Given the description of an element on the screen output the (x, y) to click on. 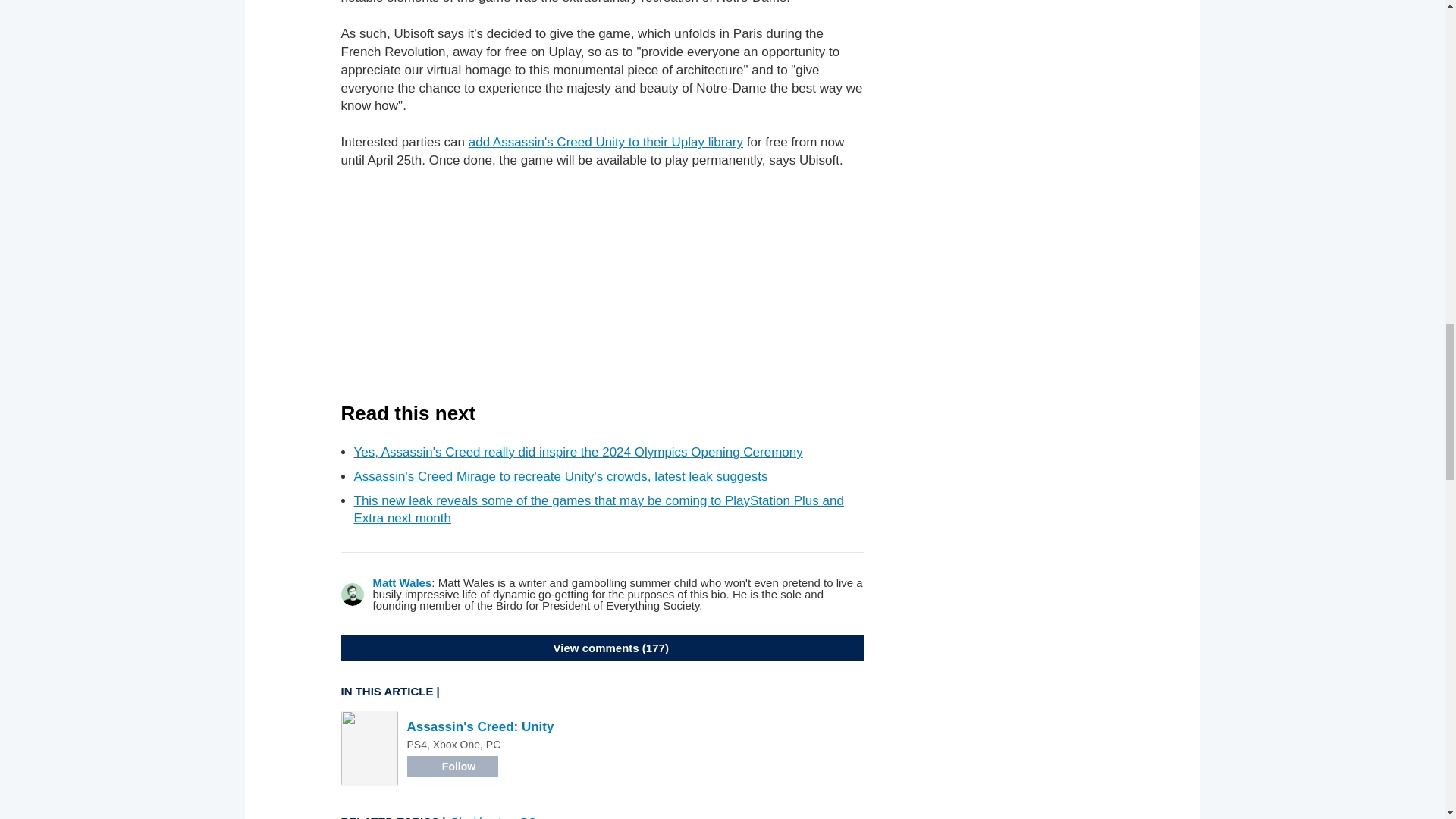
Matt Wales (402, 582)
add Assassin's Creed Unity to their Uplay library (605, 142)
